Given the description of an element on the screen output the (x, y) to click on. 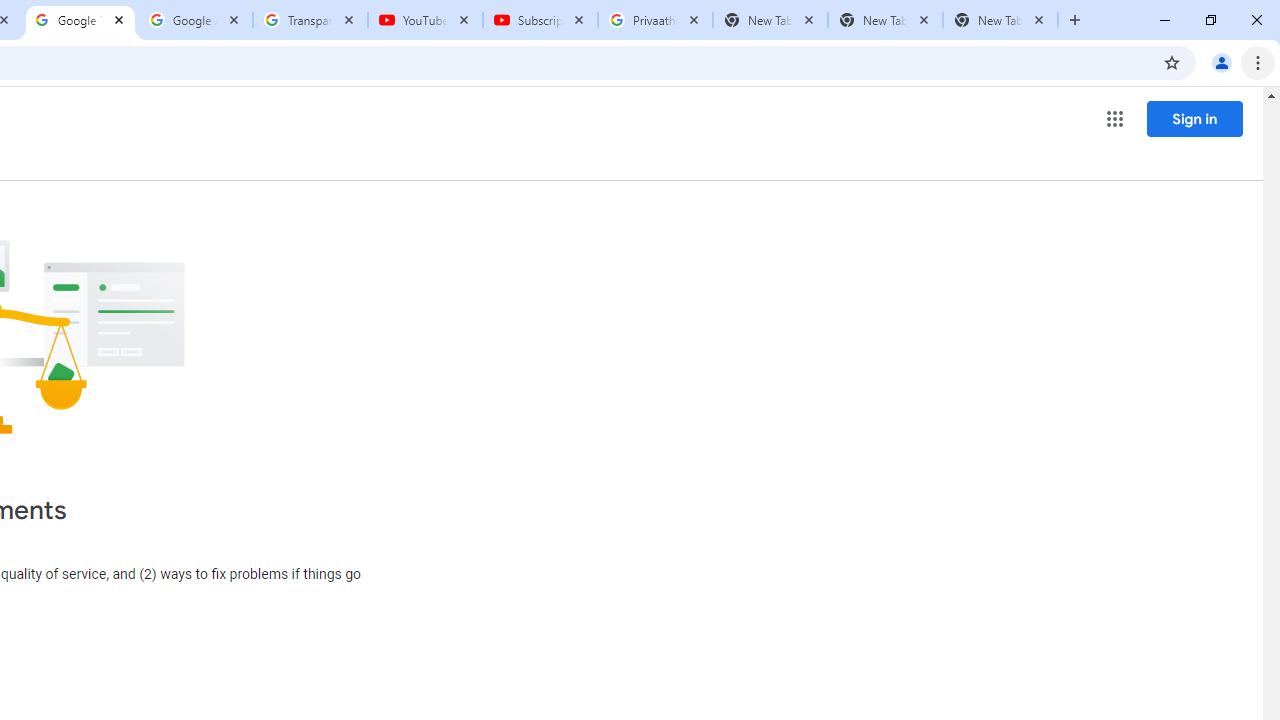
Google Account (195, 20)
New Tab (1000, 20)
Subscriptions - YouTube (539, 20)
YouTube (424, 20)
